Given the description of an element on the screen output the (x, y) to click on. 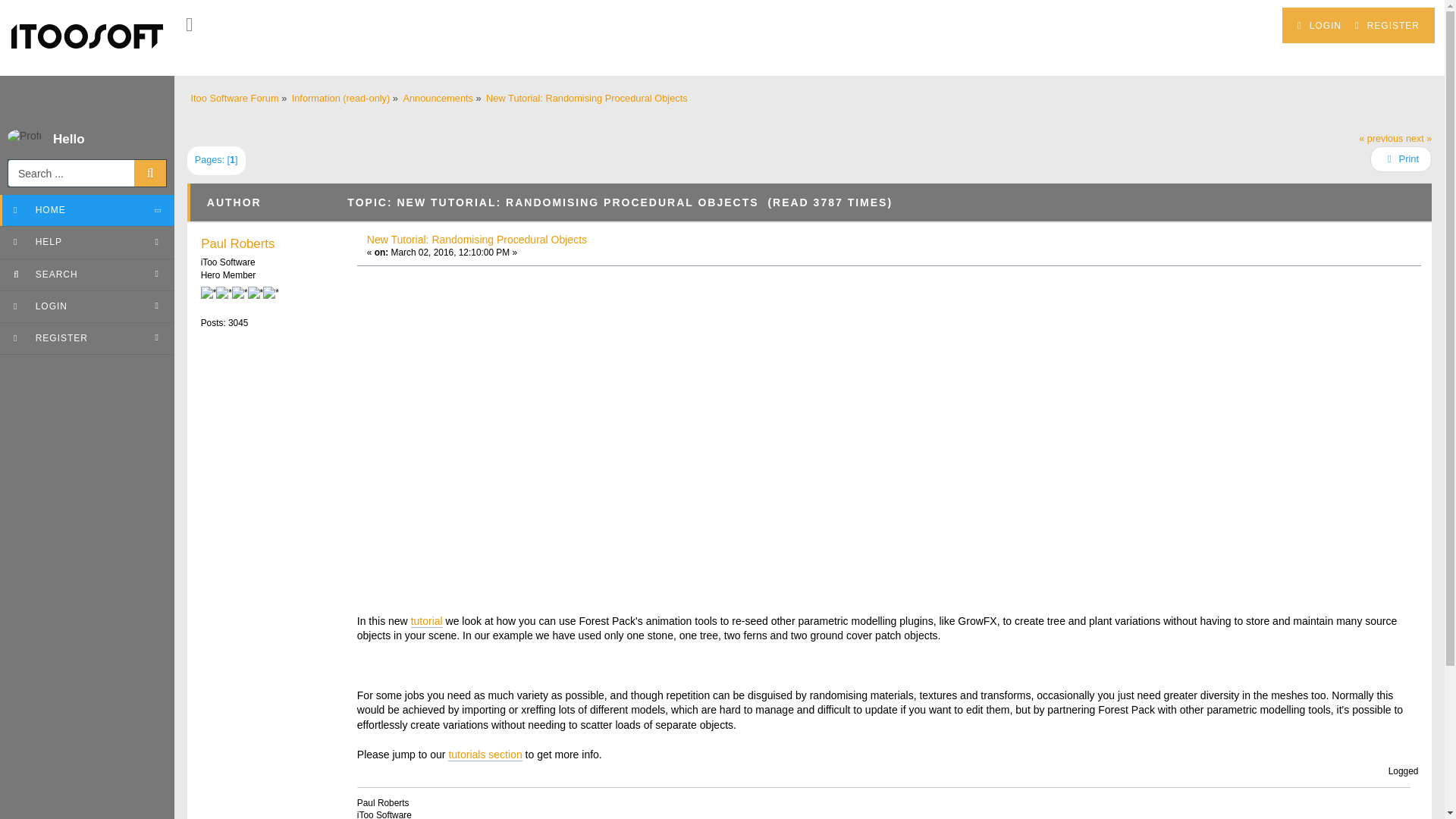
REGISTER (1387, 25)
  REGISTER (87, 337)
Itoo Software Forum (234, 98)
tutorials section (484, 754)
  HOME (87, 210)
tutorial (426, 621)
  HELP (87, 241)
  SEARCH (87, 274)
  LOGIN (87, 306)
LOGIN (1319, 25)
